Given the description of an element on the screen output the (x, y) to click on. 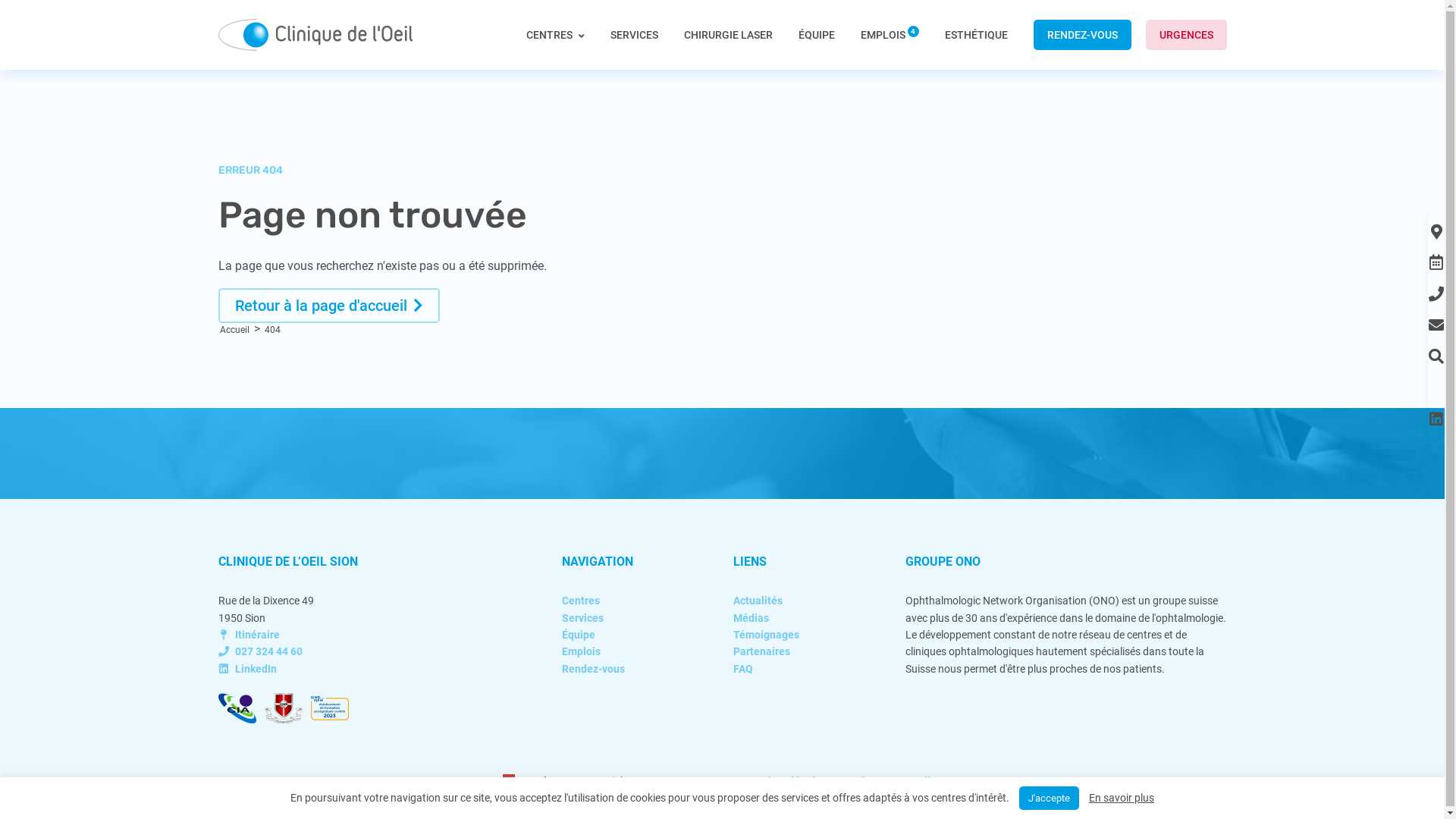
RENDEZ-VOUS Element type: text (1081, 34)
EMPLOIS Element type: text (888, 34)
URGENCES Element type: text (1185, 34)
Groupe ONO Element type: text (704, 781)
Centres Element type: text (580, 600)
Partenaires Element type: text (761, 651)
SERVICES Element type: text (633, 34)
J'accepte Element type: text (1049, 797)
FAQ Element type: text (743, 668)
027 324 44 60 Element type: text (260, 651)
CHIRURGIE LASER Element type: text (728, 34)
Rendez-vous Element type: text (592, 668)
En savoir plus Element type: text (1121, 797)
CENTRES Element type: text (555, 48)
Accueil Element type: text (234, 329)
Emplois Element type: text (580, 651)
LinkedIn Element type: text (247, 668)
Services Element type: text (582, 617)
